Given the description of an element on the screen output the (x, y) to click on. 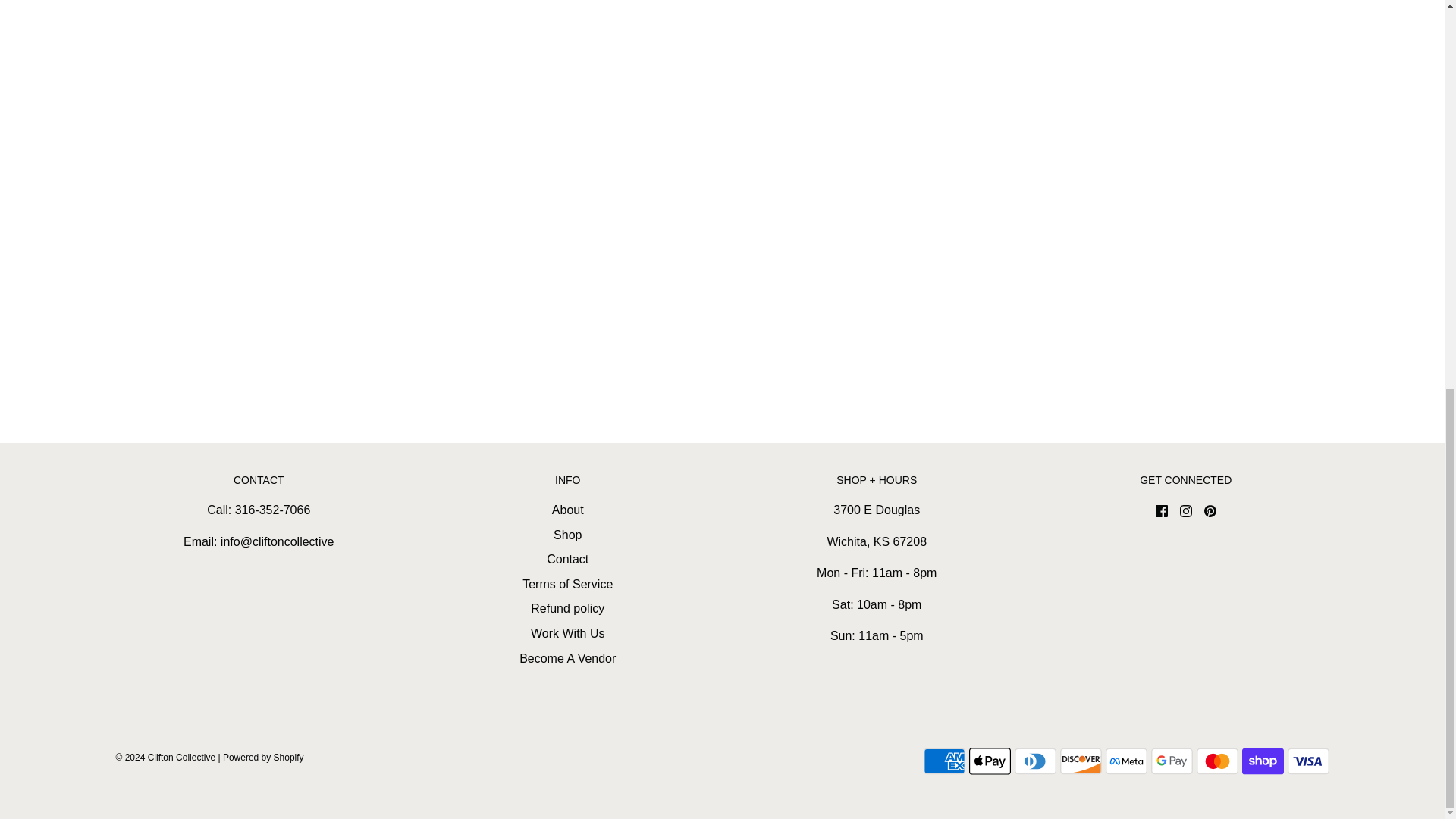
Diners Club (1035, 761)
Facebook icon (1161, 510)
Apple Pay (989, 761)
American Express (944, 761)
Meta Pay (1126, 761)
Discover (1080, 761)
Pinterest icon (1209, 510)
Mastercard (1217, 761)
Google Pay (1171, 761)
Instagram icon (1185, 510)
